Given the description of an element on the screen output the (x, y) to click on. 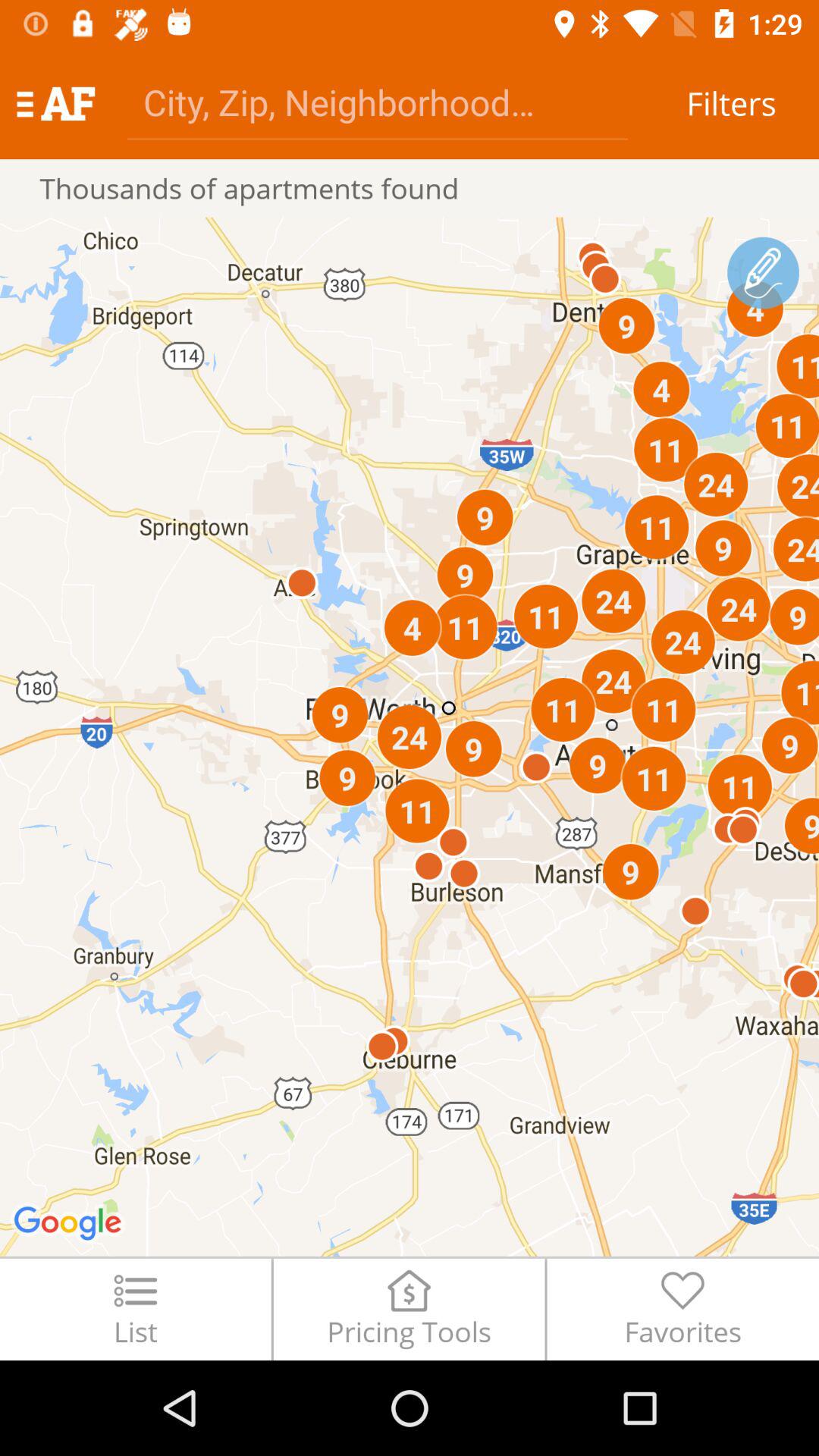
turn on item above the list icon (409, 736)
